Given the description of an element on the screen output the (x, y) to click on. 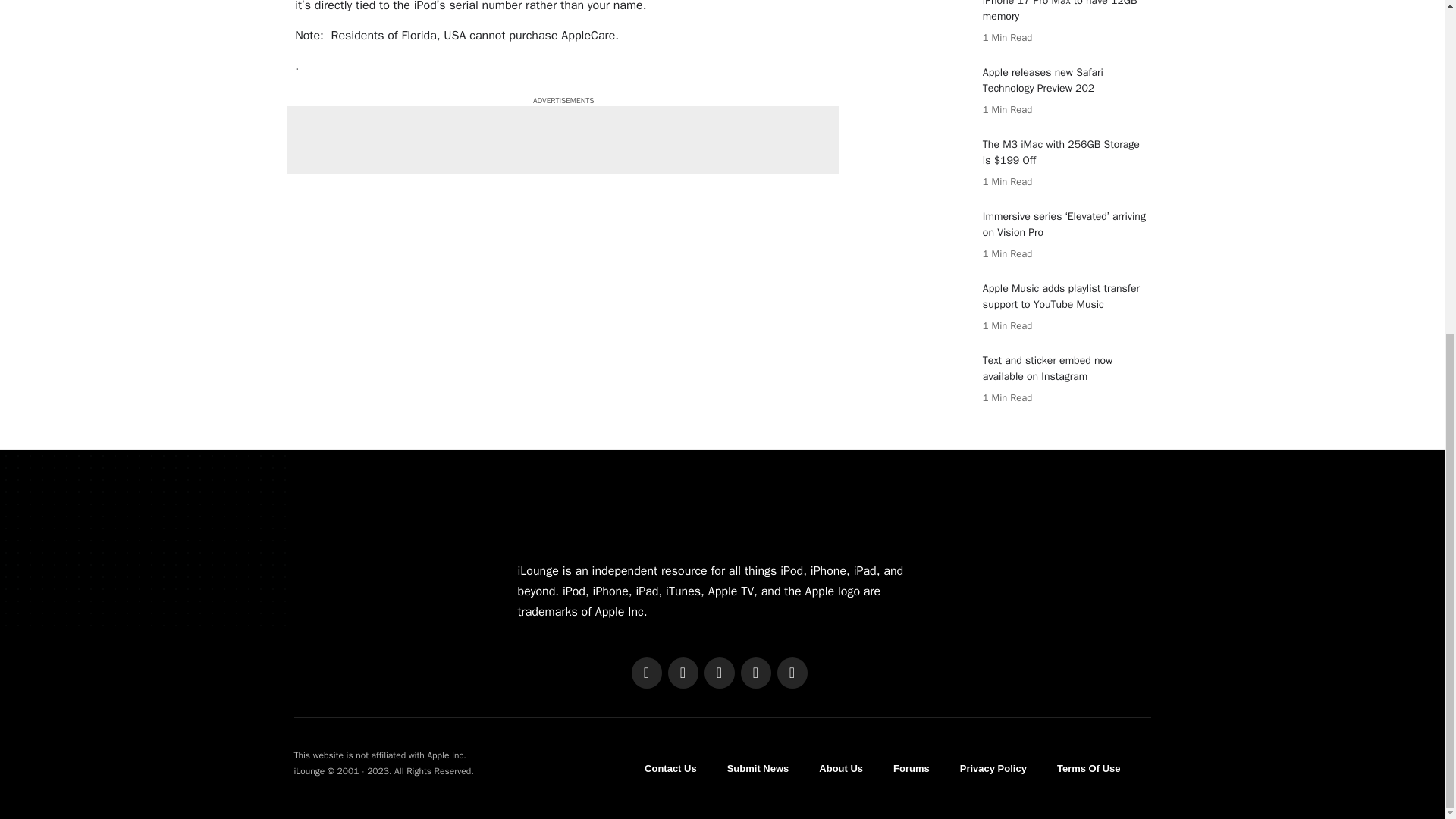
Twitter (681, 672)
Apple Music adds playlist transfer support to YouTube Music (933, 308)
LinkedIn (754, 672)
Facebook (645, 672)
Apple releases new Safari Technology Preview 202 (933, 92)
iPhone 17 Pro Max to have 12GB memory (933, 24)
Text and sticker embed now available on Instagram (933, 380)
Instagram (718, 672)
